Given the description of an element on the screen output the (x, y) to click on. 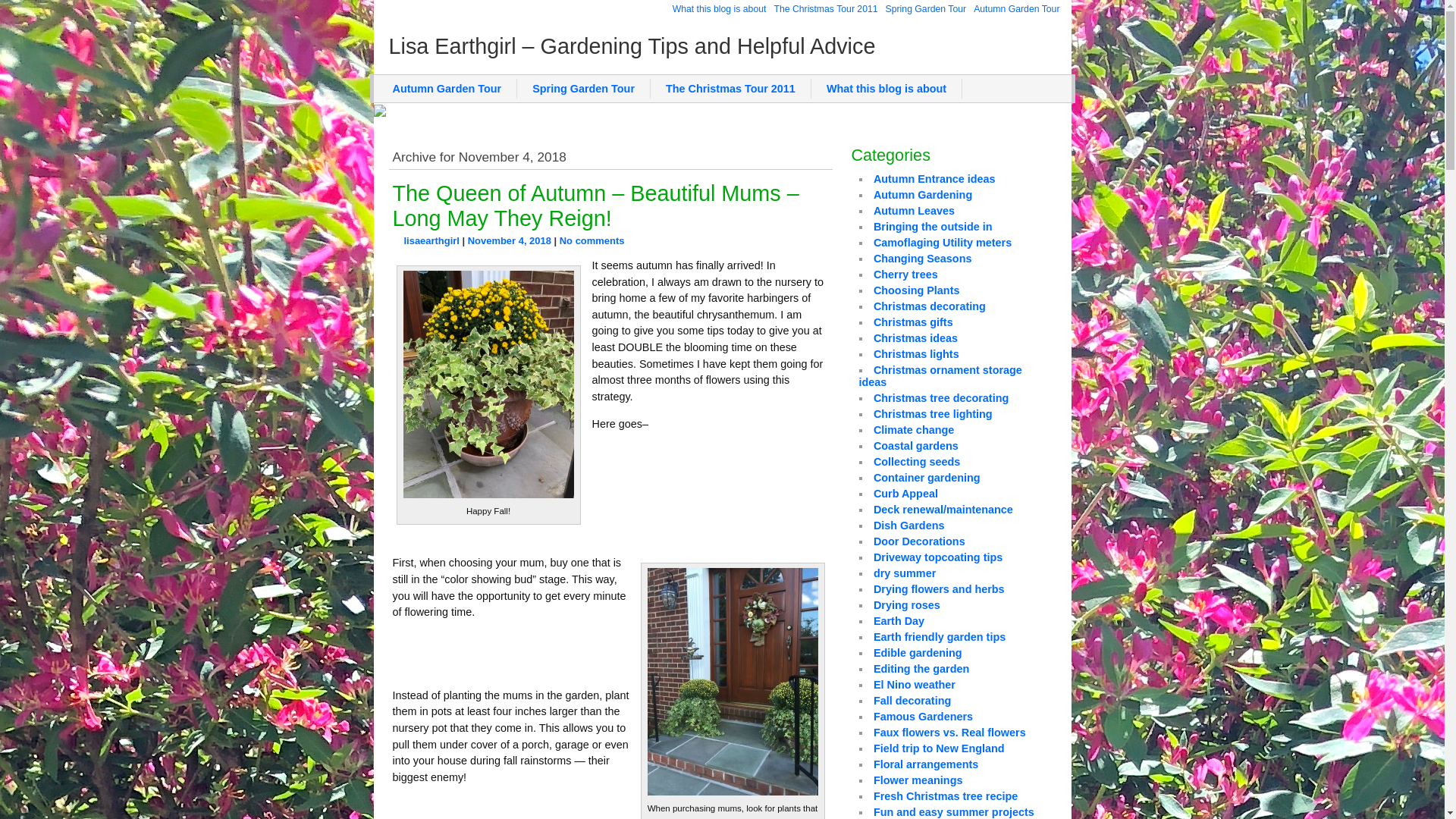
Spring Garden Tour (926, 9)
Posts by lisaearthgirl (430, 240)
Spring Garden Tour (583, 88)
Autumn Garden Tour (1015, 9)
No comments (591, 240)
lisaearthgirl (430, 240)
The Christmas Tour 2011 (825, 9)
What this blog is about (886, 88)
November 4, 2018 (509, 240)
The Christmas Tour 2011 (730, 88)
What this blog is about (719, 9)
Autumn Garden Tour (447, 88)
